Given the description of an element on the screen output the (x, y) to click on. 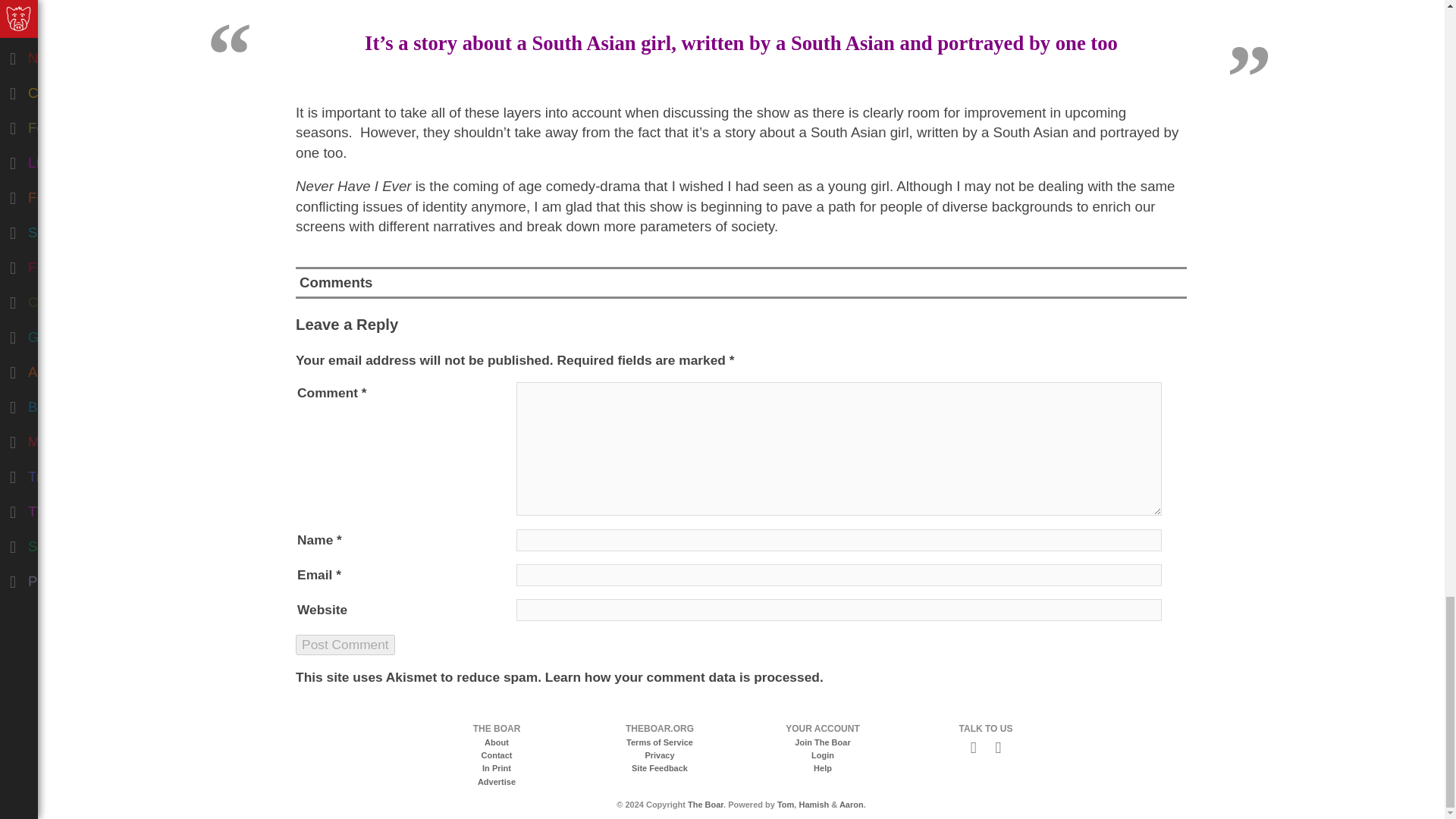
Post Comment (344, 644)
Post Comment (344, 644)
About (496, 741)
Learn how your comment data is processed (681, 676)
Login (822, 755)
Contact (496, 755)
The Boar (705, 804)
